Given the description of an element on the screen output the (x, y) to click on. 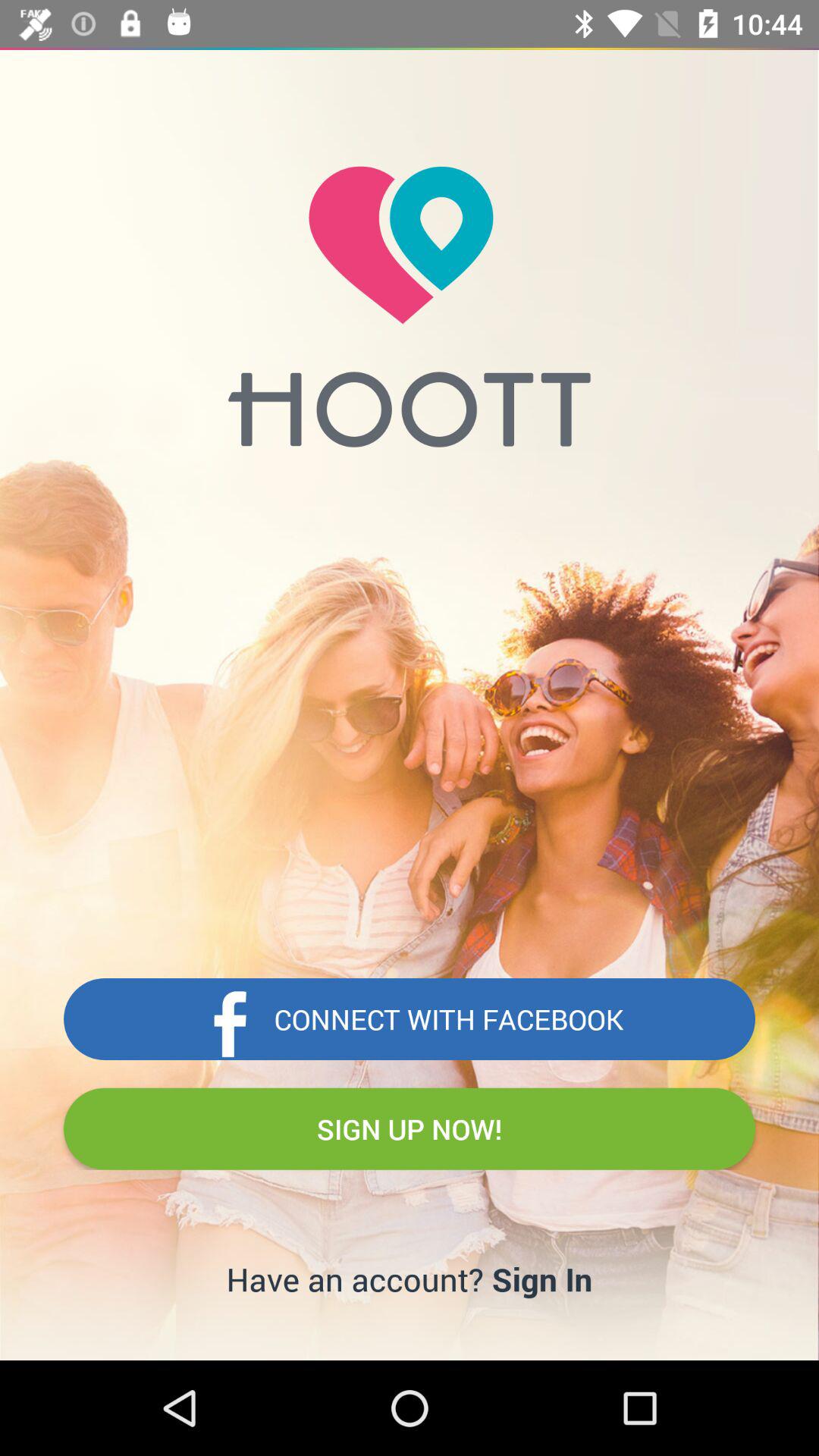
tap sign in (541, 1278)
